Given the description of an element on the screen output the (x, y) to click on. 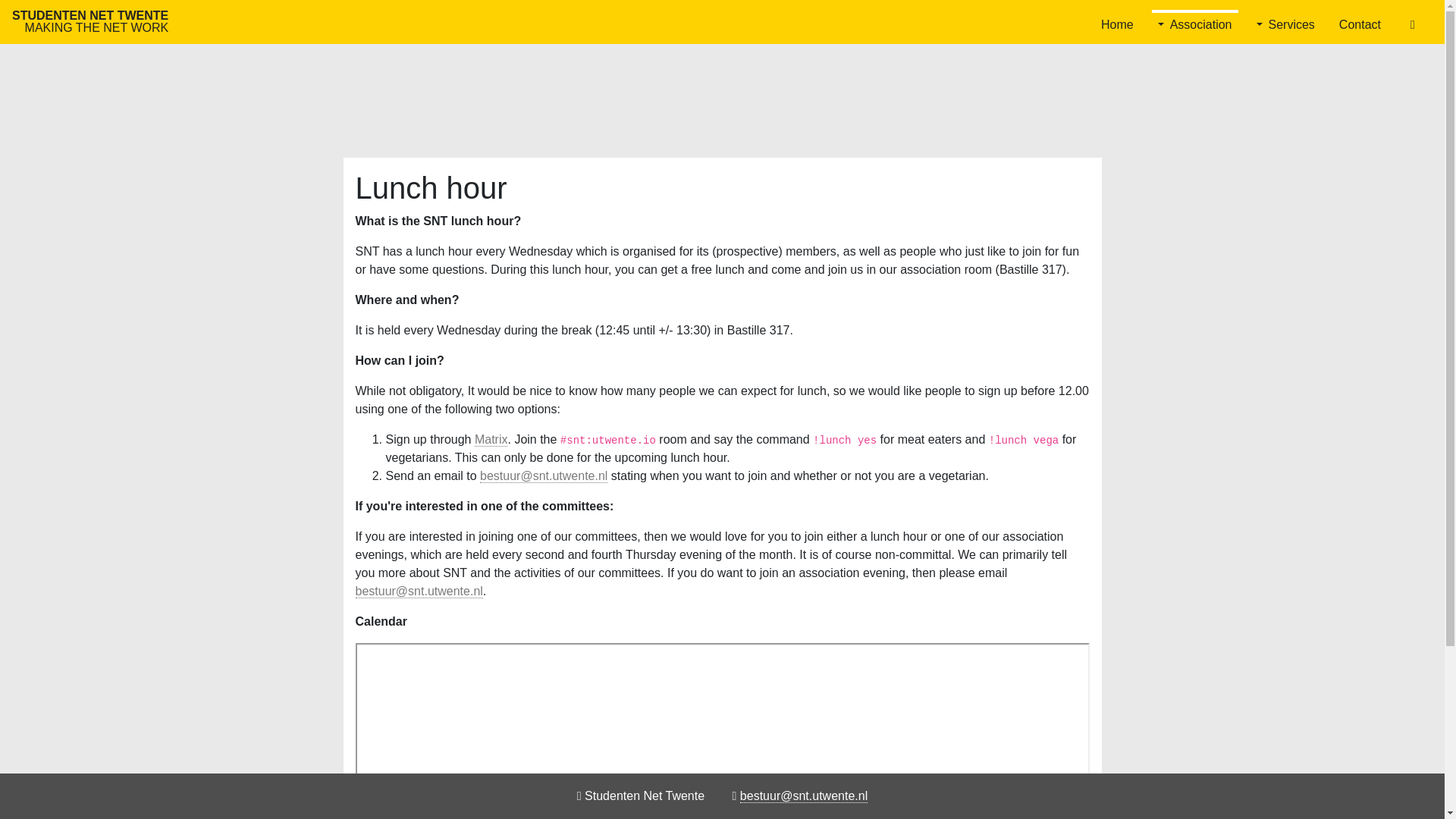
Contact (1360, 21)
Association (1195, 21)
Home (1117, 21)
Services (89, 21)
